Given the description of an element on the screen output the (x, y) to click on. 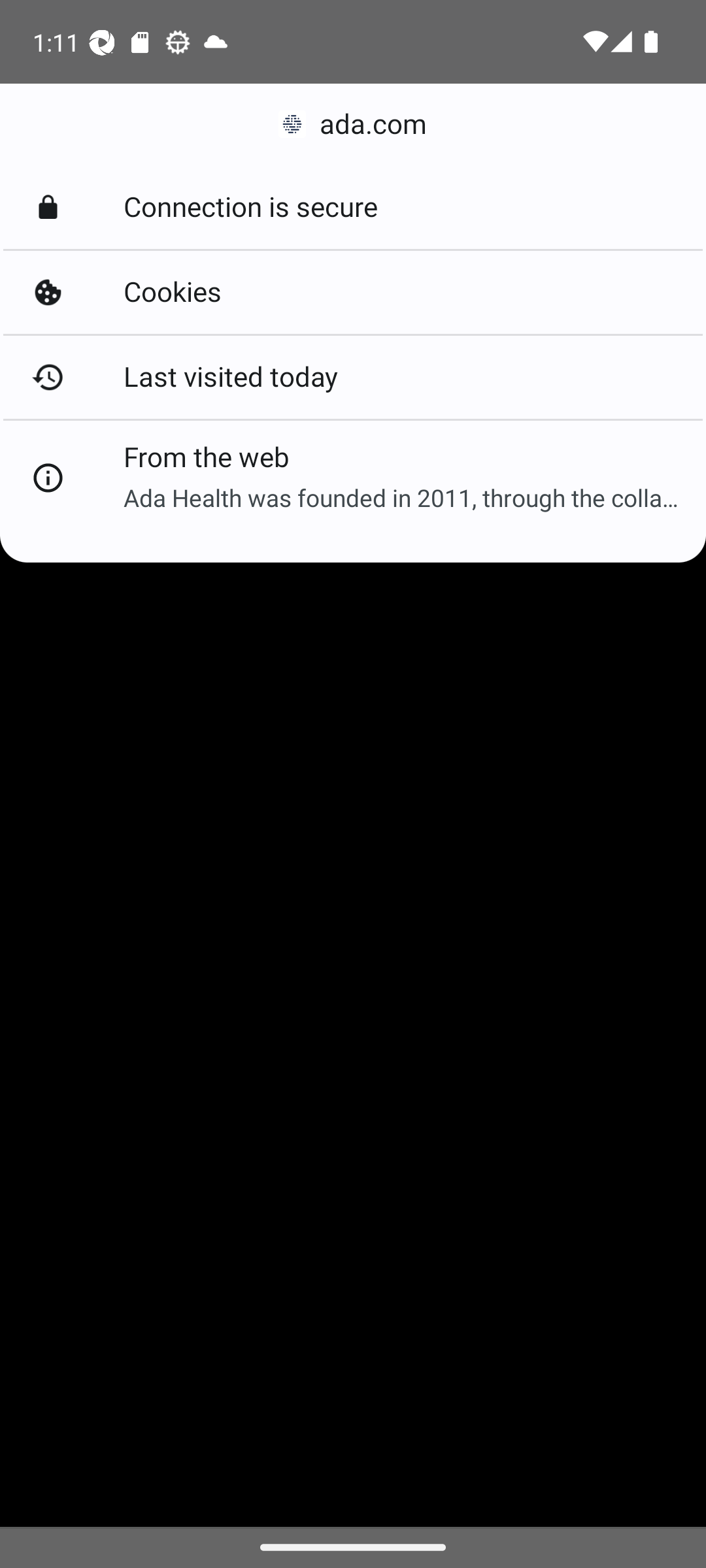
ada.com (353, 124)
Connection is secure (353, 207)
Cookies (353, 291)
Last visited today (353, 376)
